Given the description of an element on the screen output the (x, y) to click on. 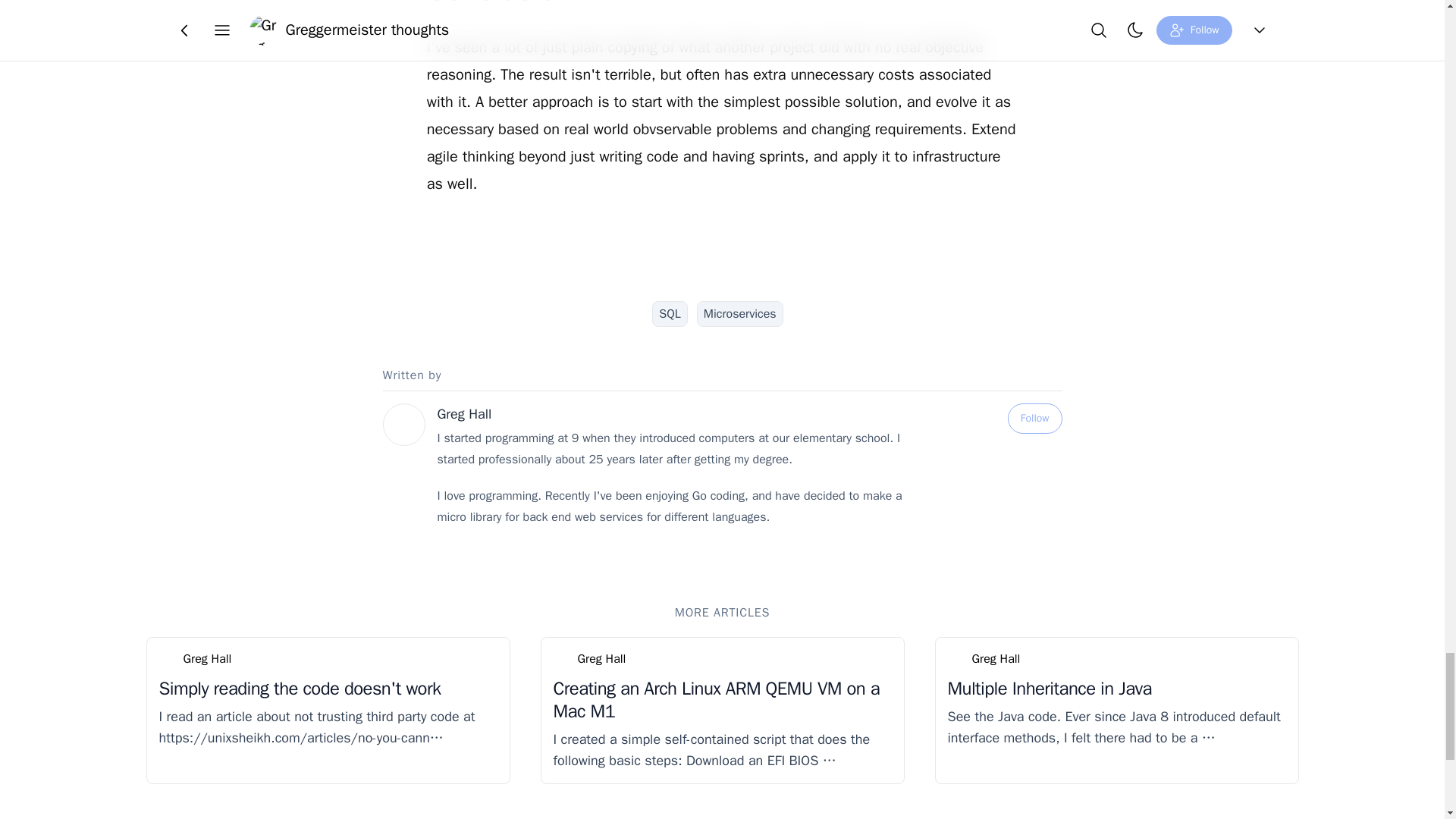
Follow (1034, 418)
Microservices (740, 313)
SQL (669, 313)
Simply reading the code doesn't work (299, 688)
Greg Hall (464, 413)
Greg Hall (602, 659)
Greg Hall (207, 659)
